Given the description of an element on the screen output the (x, y) to click on. 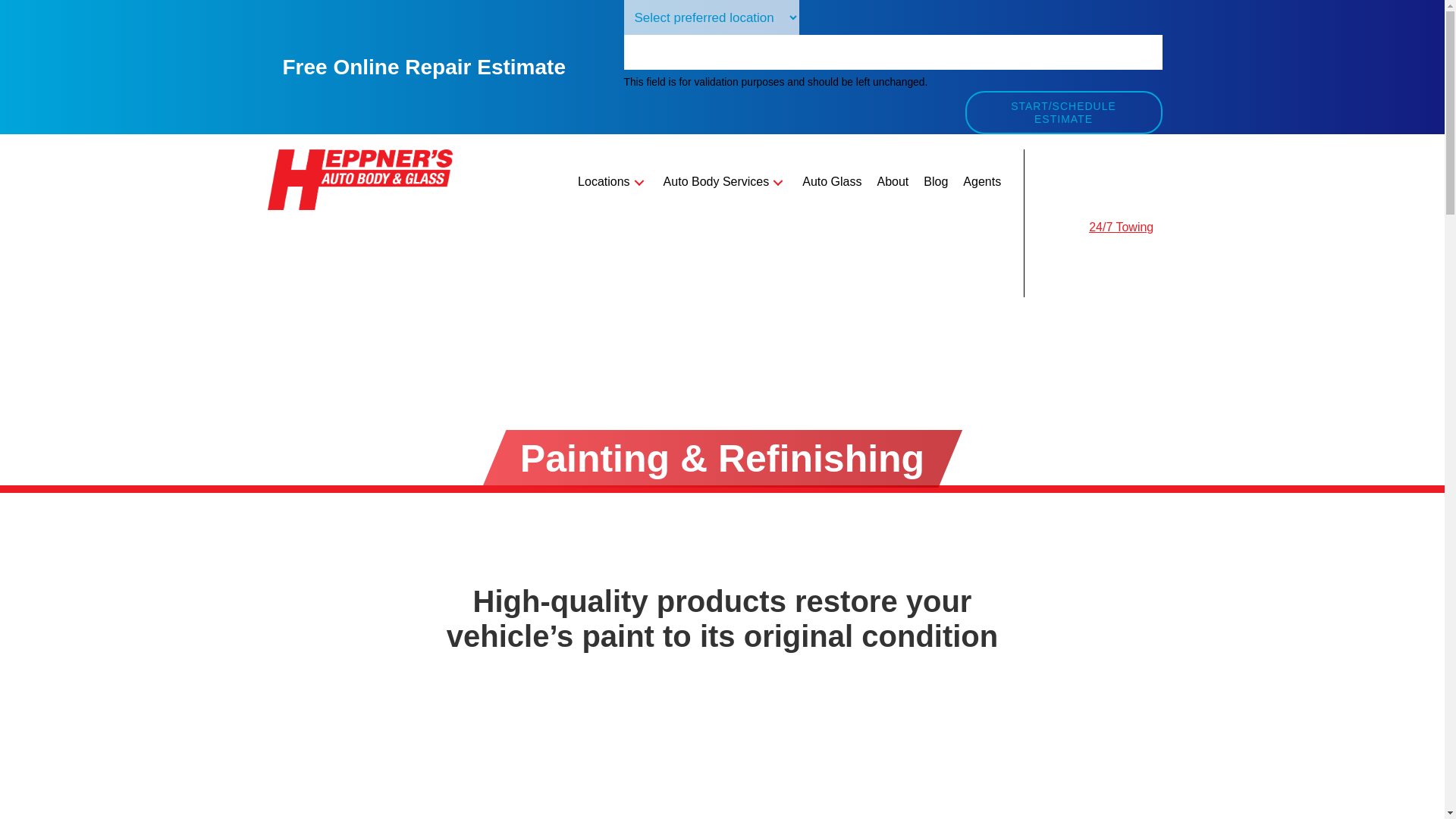
Locations (613, 181)
Auto Body Services (725, 181)
Agents (982, 181)
Auto Glass (831, 181)
Blog (935, 181)
logo (358, 179)
About (892, 181)
